Given the description of an element on the screen output the (x, y) to click on. 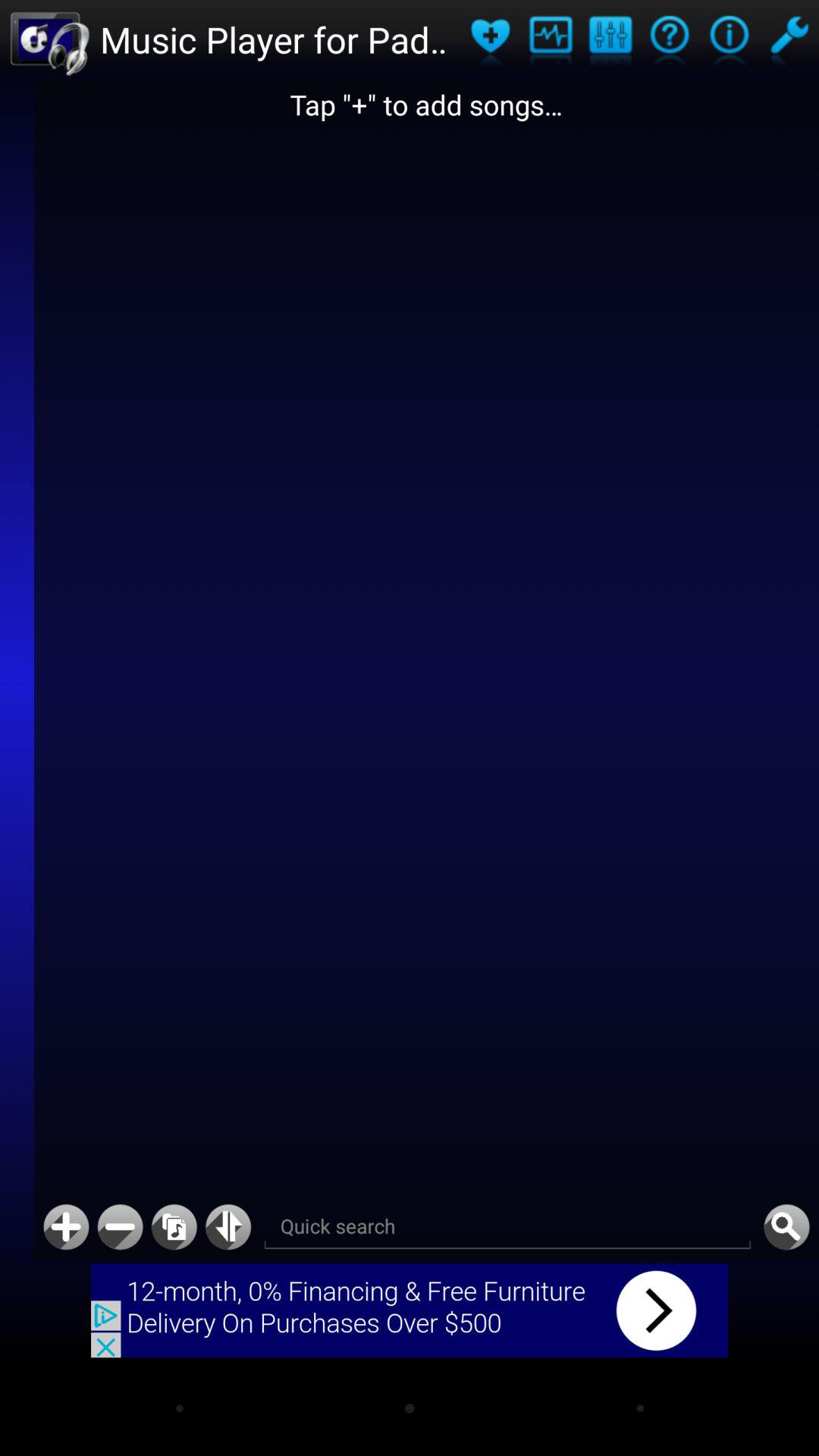
open tools menu (789, 39)
